Given the description of an element on the screen output the (x, y) to click on. 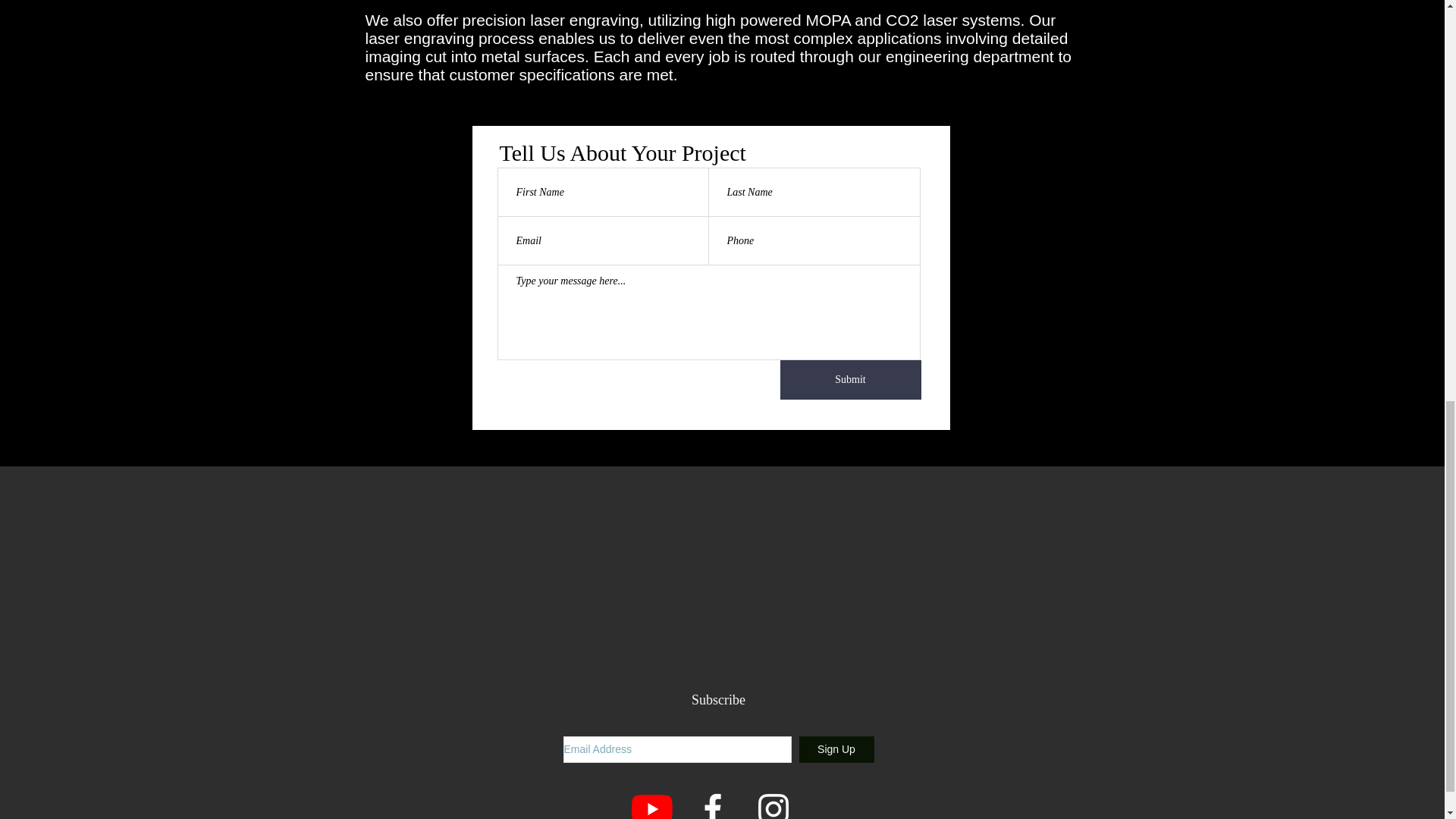
Sign Up (837, 749)
Submit (849, 379)
